Given the description of an element on the screen output the (x, y) to click on. 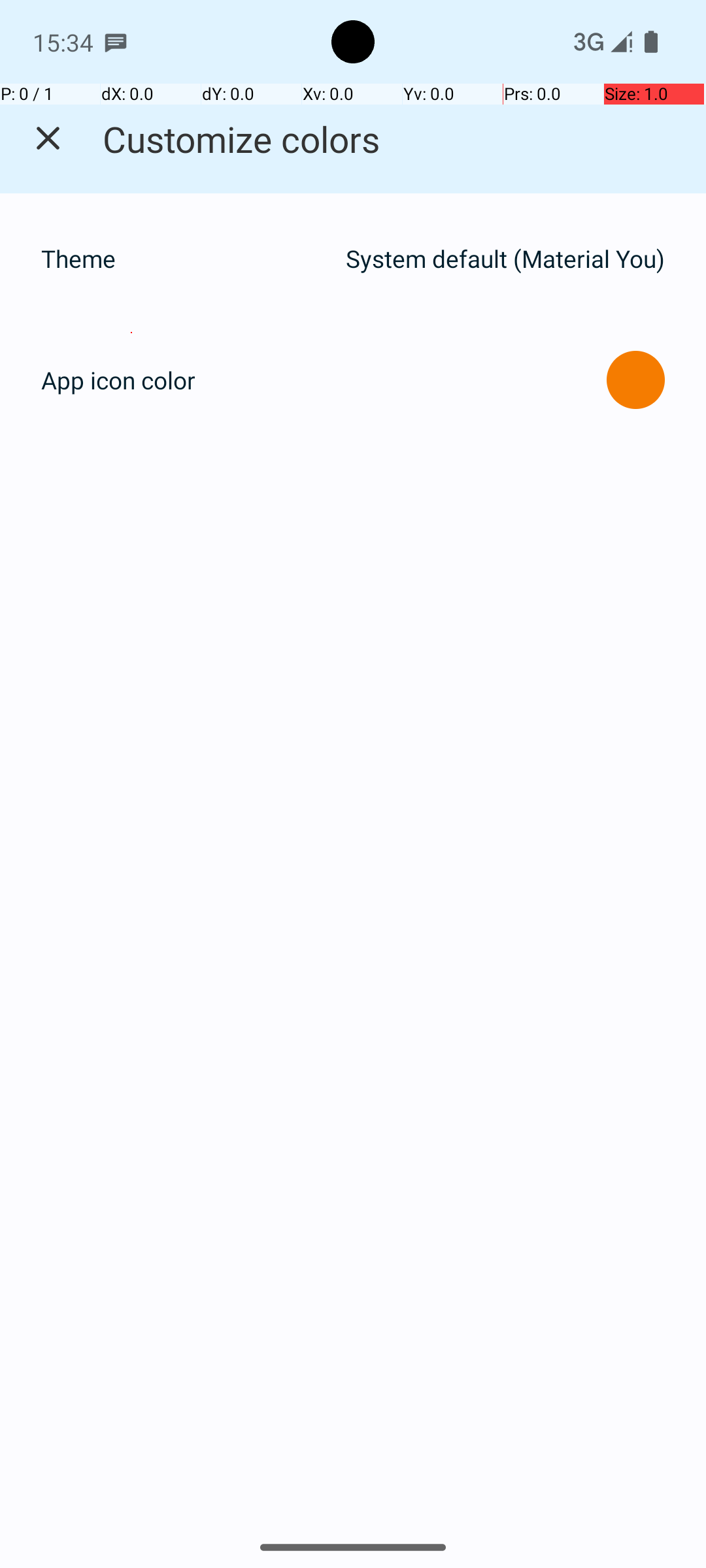
System default (Material You) Element type: android.widget.TextView (504, 258)
App icon color Element type: android.widget.TextView (118, 379)
